Given the description of an element on the screen output the (x, y) to click on. 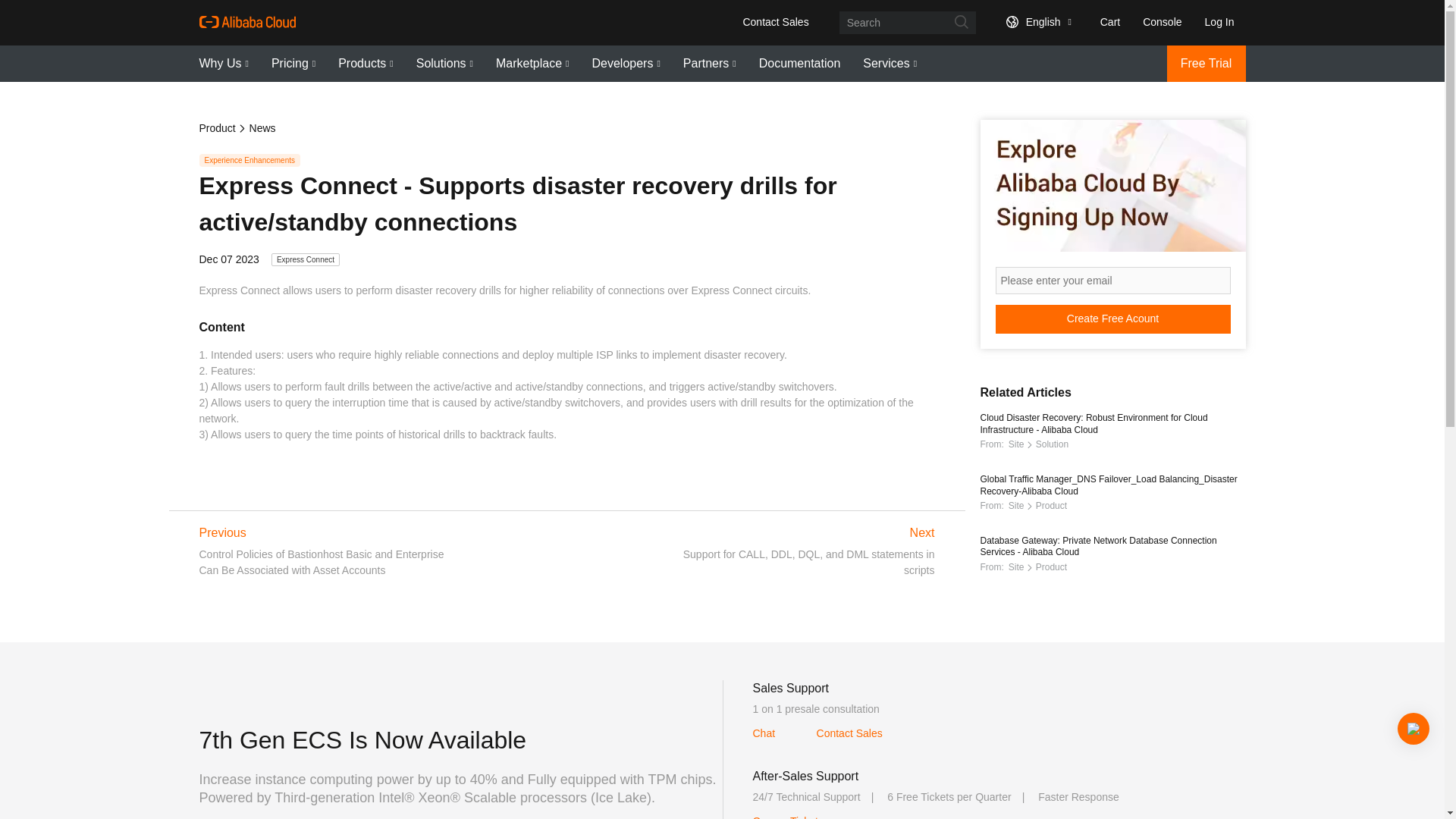
Alibaba Cloud (246, 22)
  Cart (1107, 22)
Console (1161, 22)
Log In (1219, 22)
English (1035, 22)
Contact Sales (774, 22)
